Given the description of an element on the screen output the (x, y) to click on. 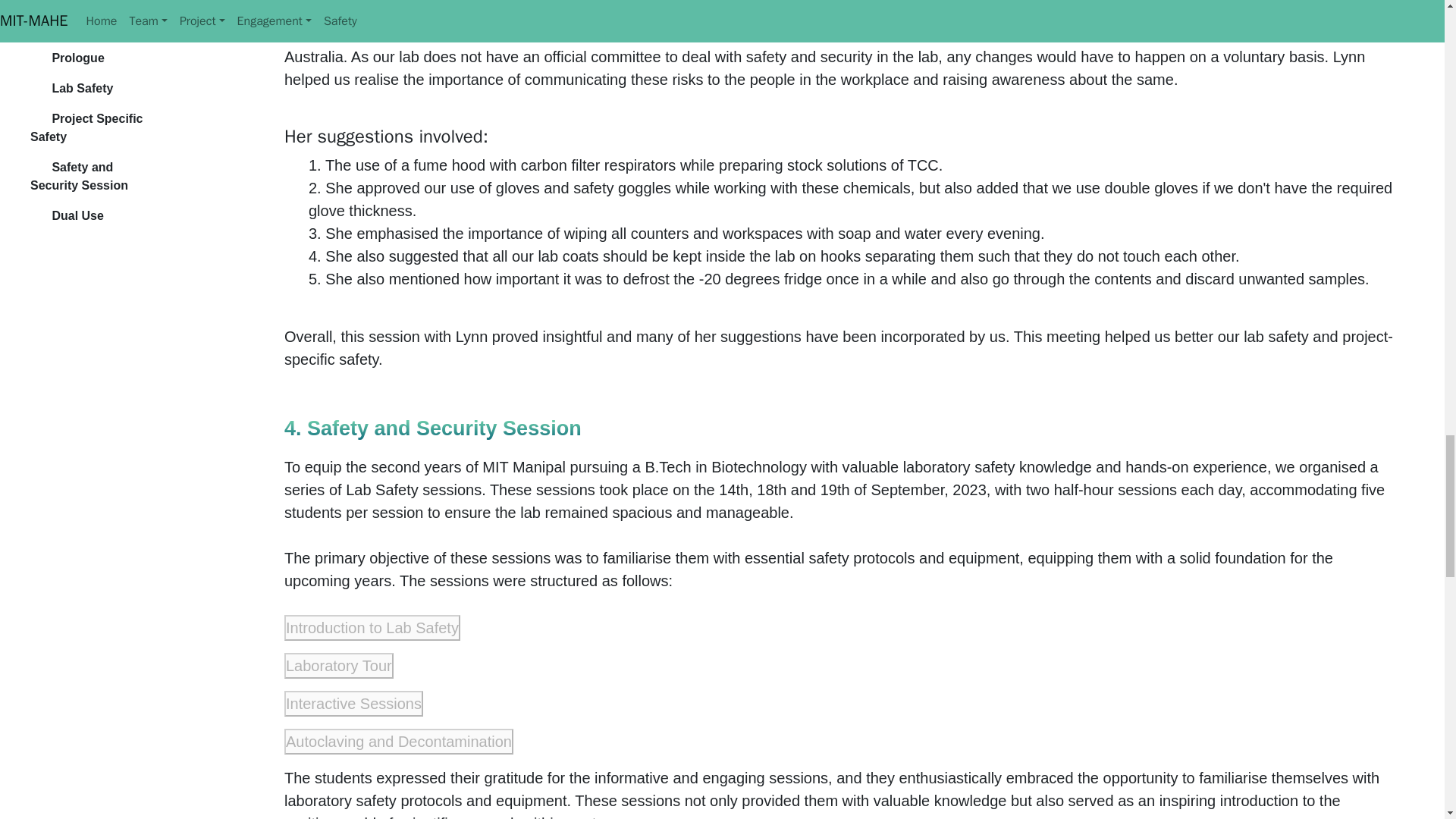
Autoclaving and Decontamination (398, 741)
Interactive Sessions (353, 703)
Introduction to Lab Safety (371, 627)
Laboratory Tour (338, 665)
